Given the description of an element on the screen output the (x, y) to click on. 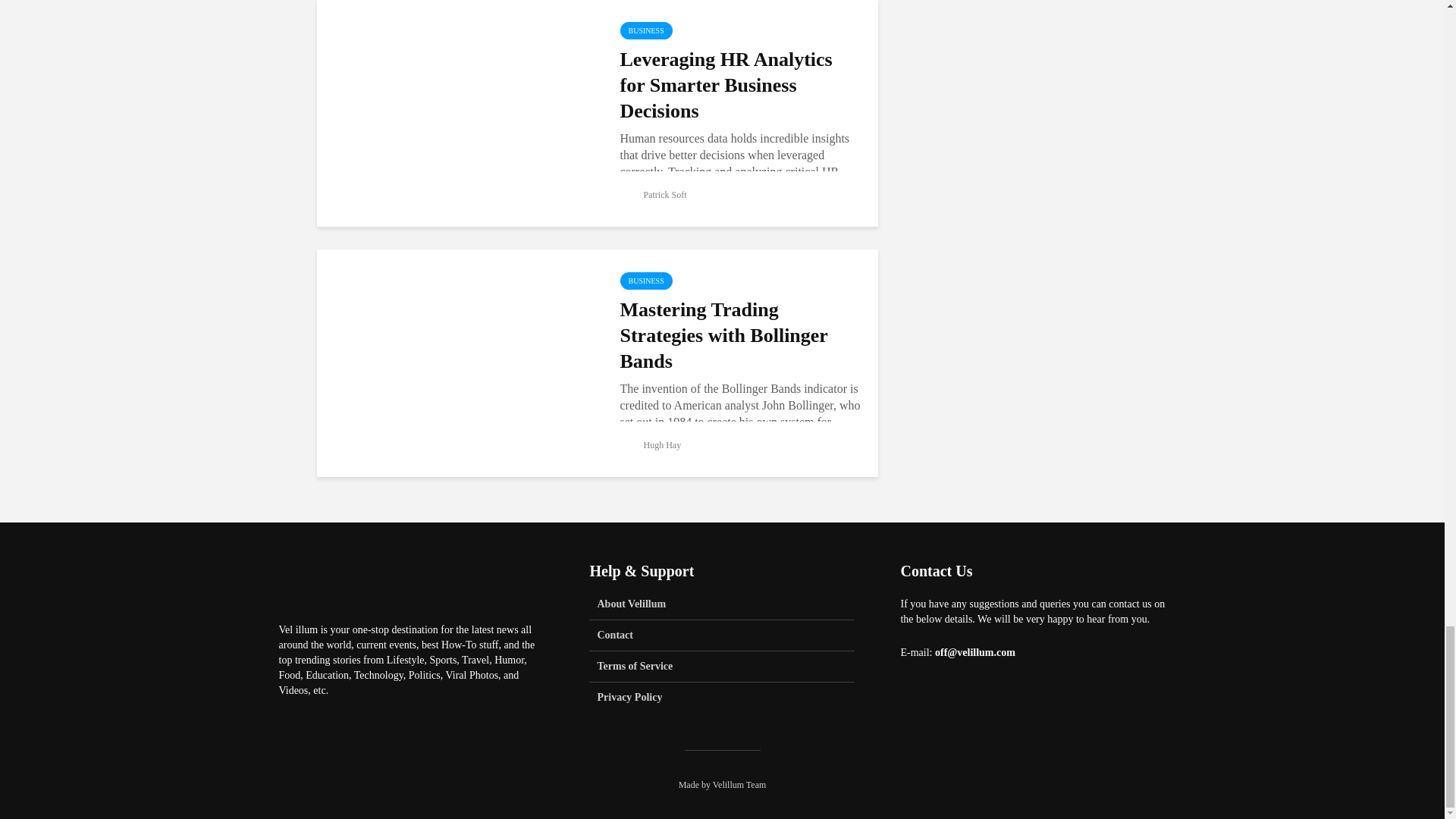
Mastering Trading Strategies with Bollinger Bands (456, 361)
